Given the description of an element on the screen output the (x, y) to click on. 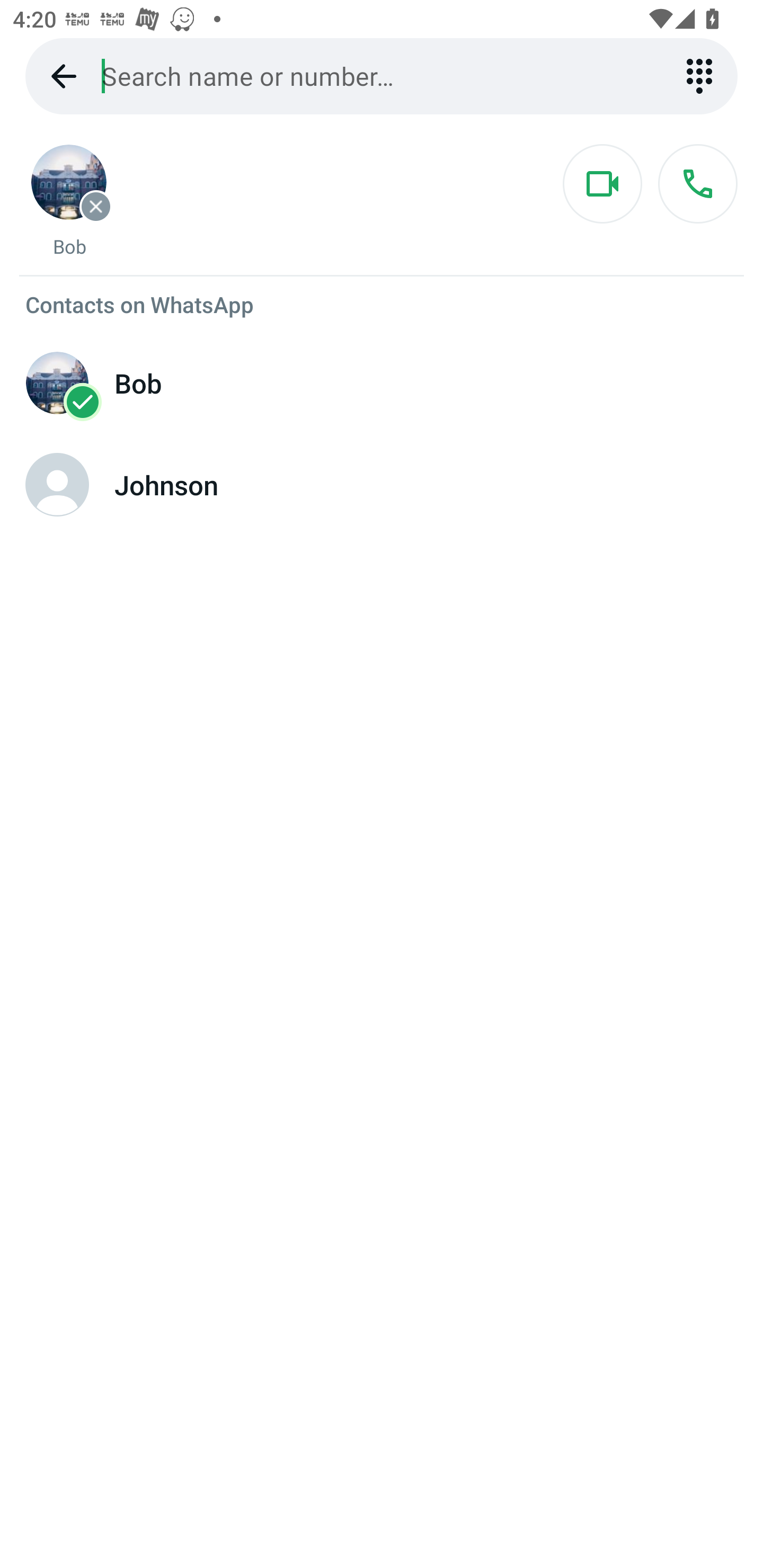
Search name or number… (381, 75)
Show dial pad keyboard (699, 75)
Bob is selected Remove Bob (68, 201)
Video call (602, 184)
Voice call (697, 184)
Contacts on WhatsApp (381, 303)
Bob Selected Bob (381, 383)
Johnson (381, 485)
